Given the description of an element on the screen output the (x, y) to click on. 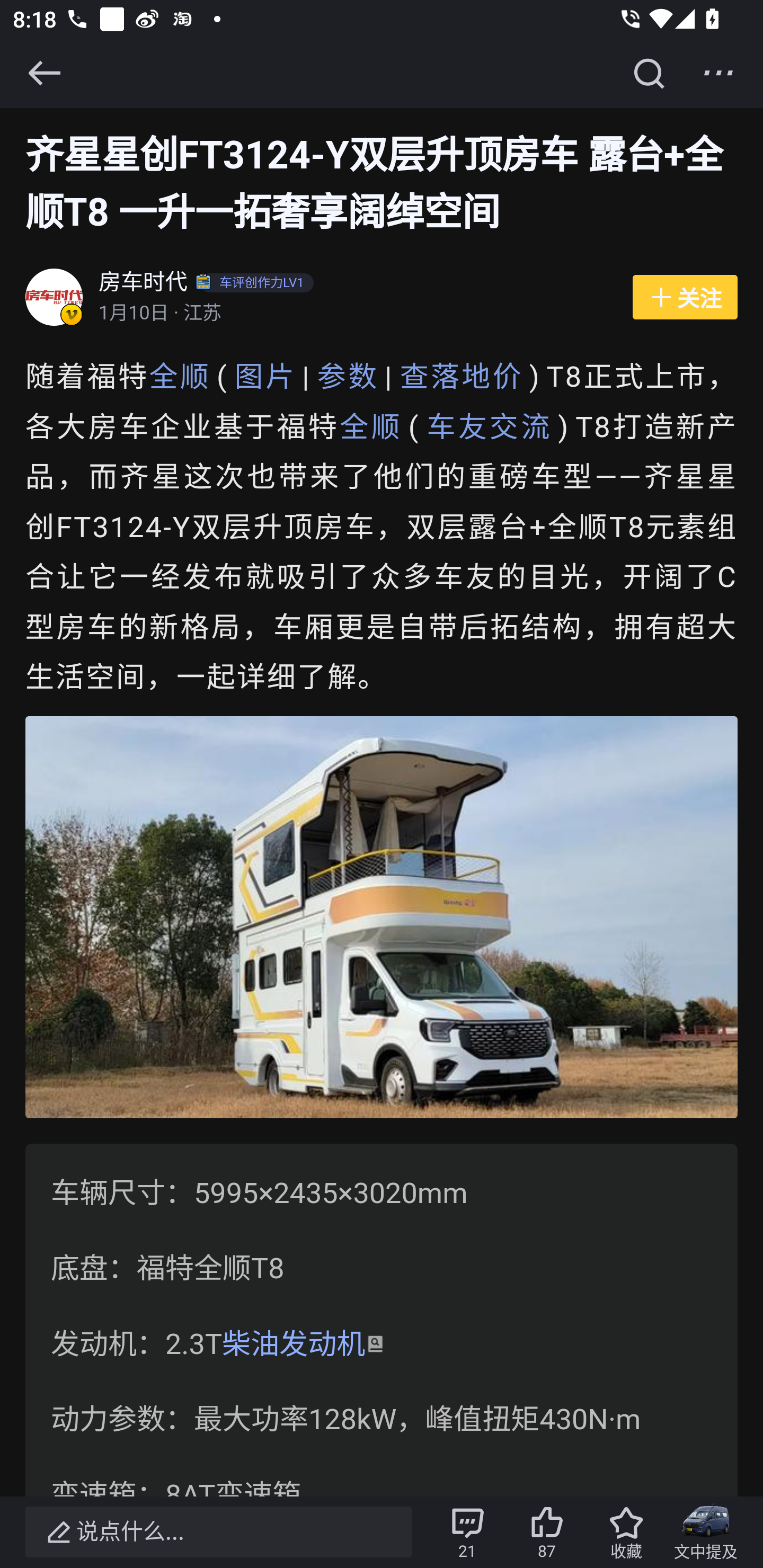
 (44, 72)
 (648, 72)
 (718, 72)
房车时代 (143, 283)
5dca4359462c211ae53ac967efc56334 车评创作力LV1 (256, 283)
关注 (684, 297)
1月10日 · 江苏 1月10日  · 江苏 (355, 314)
全顺 (179, 377)
图片 (265, 377)
参数 (347, 377)
查落地价 (461, 377)
全顺 (370, 427)
车友交流 (488, 427)
lrLFp4AcnBaB7_7od9gWD0rWmnA (381, 917)
 21 (467, 1531)
87 (546, 1531)
收藏 (625, 1531)
文中提及 (705, 1531)
 说点什么... (218, 1531)
